Given the description of an element on the screen output the (x, y) to click on. 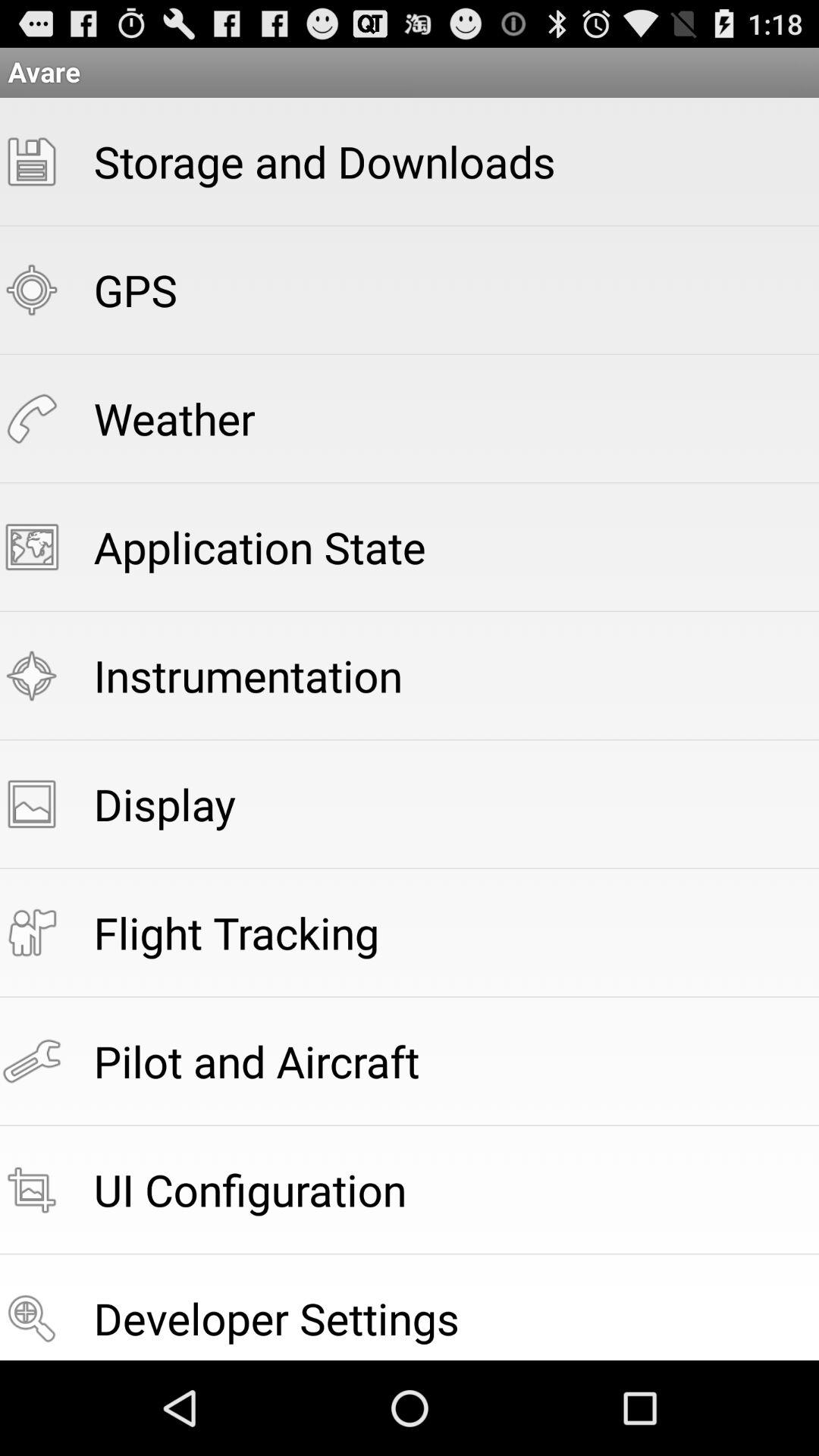
select the flight tracking item (236, 932)
